Given the description of an element on the screen output the (x, y) to click on. 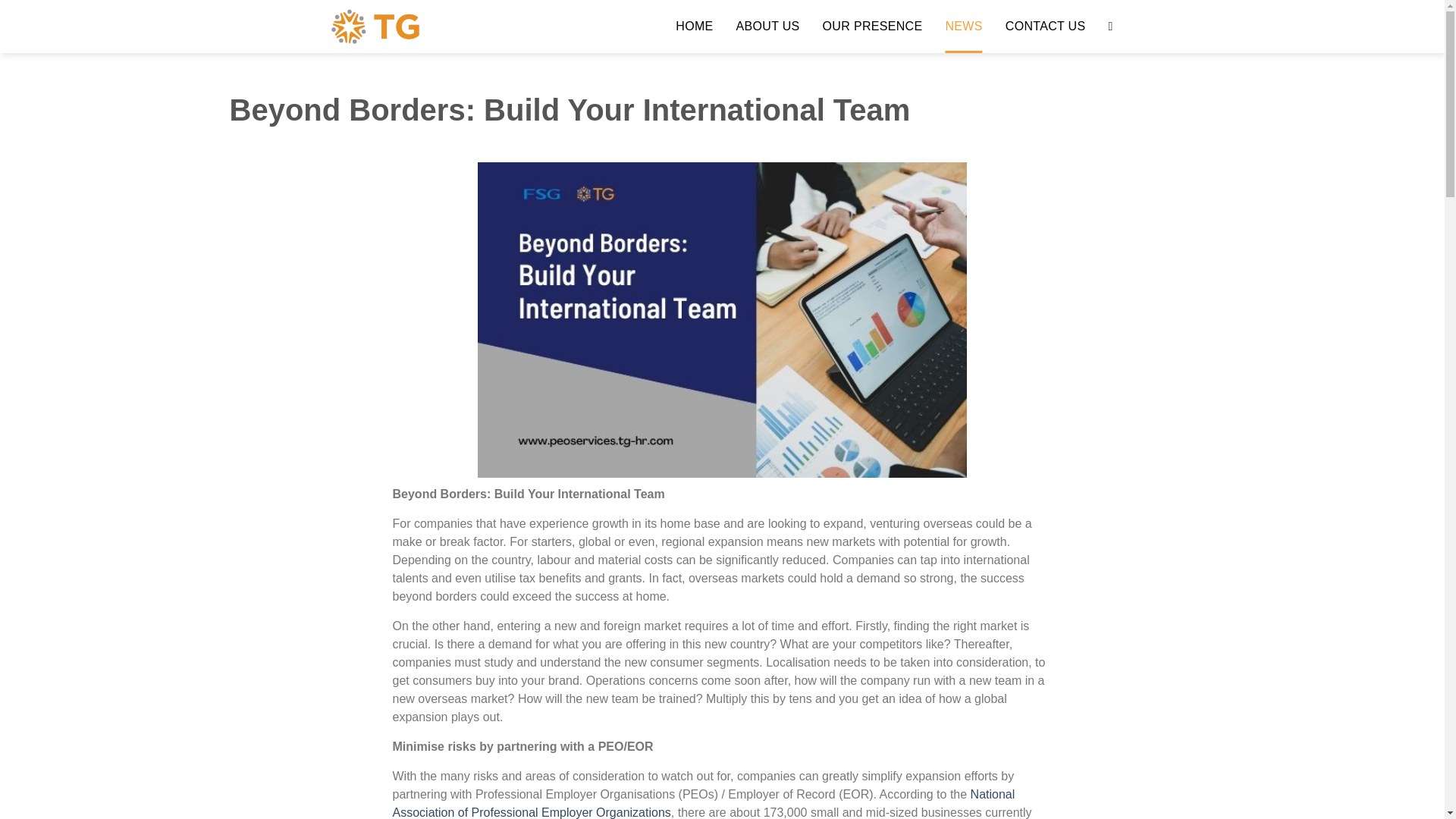
CONTACT US (1046, 26)
ABOUT US (767, 26)
OUR PRESENCE (872, 26)
National Association of Professional Employer Organizations (703, 803)
TG Holding (429, 26)
